Given the description of an element on the screen output the (x, y) to click on. 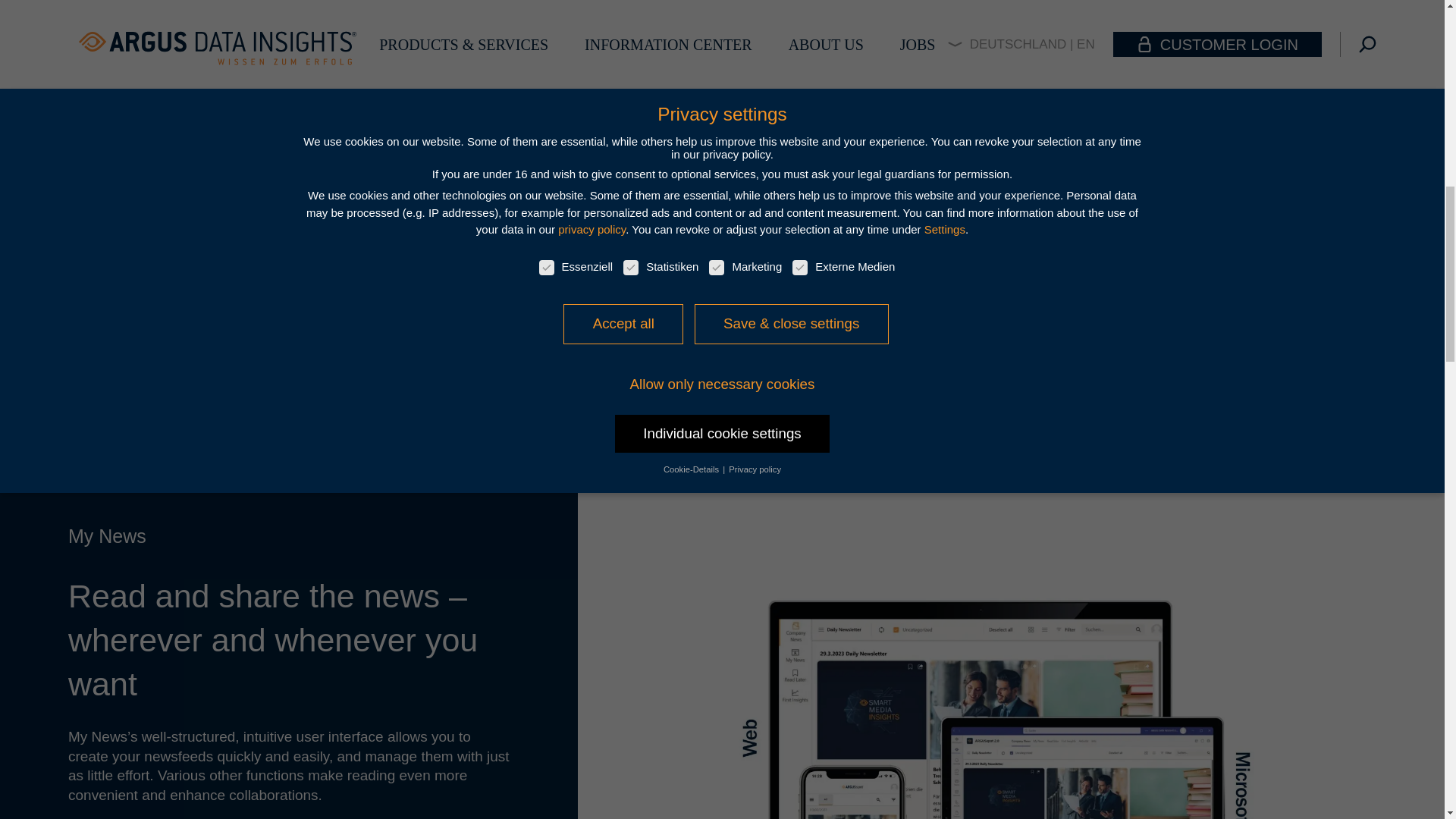
Get in touch (721, 156)
Get in touch (721, 156)
